Given the description of an element on the screen output the (x, y) to click on. 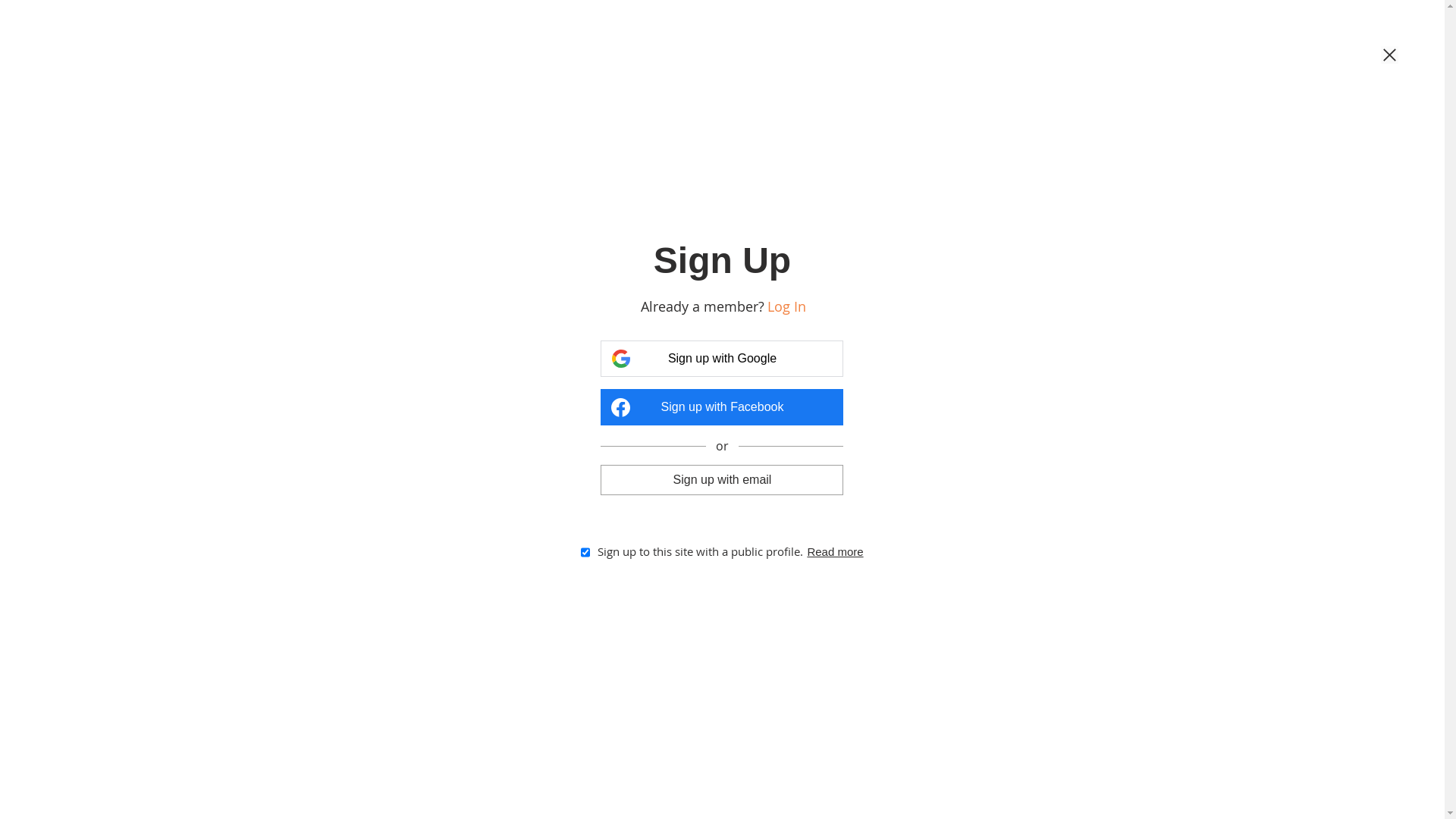
Read more Element type: text (834, 551)
Sign up with Google Element type: text (721, 358)
Log In Element type: text (786, 306)
Sign up with Facebook Element type: text (721, 407)
Sign up with email Element type: text (721, 479)
